Given the description of an element on the screen output the (x, y) to click on. 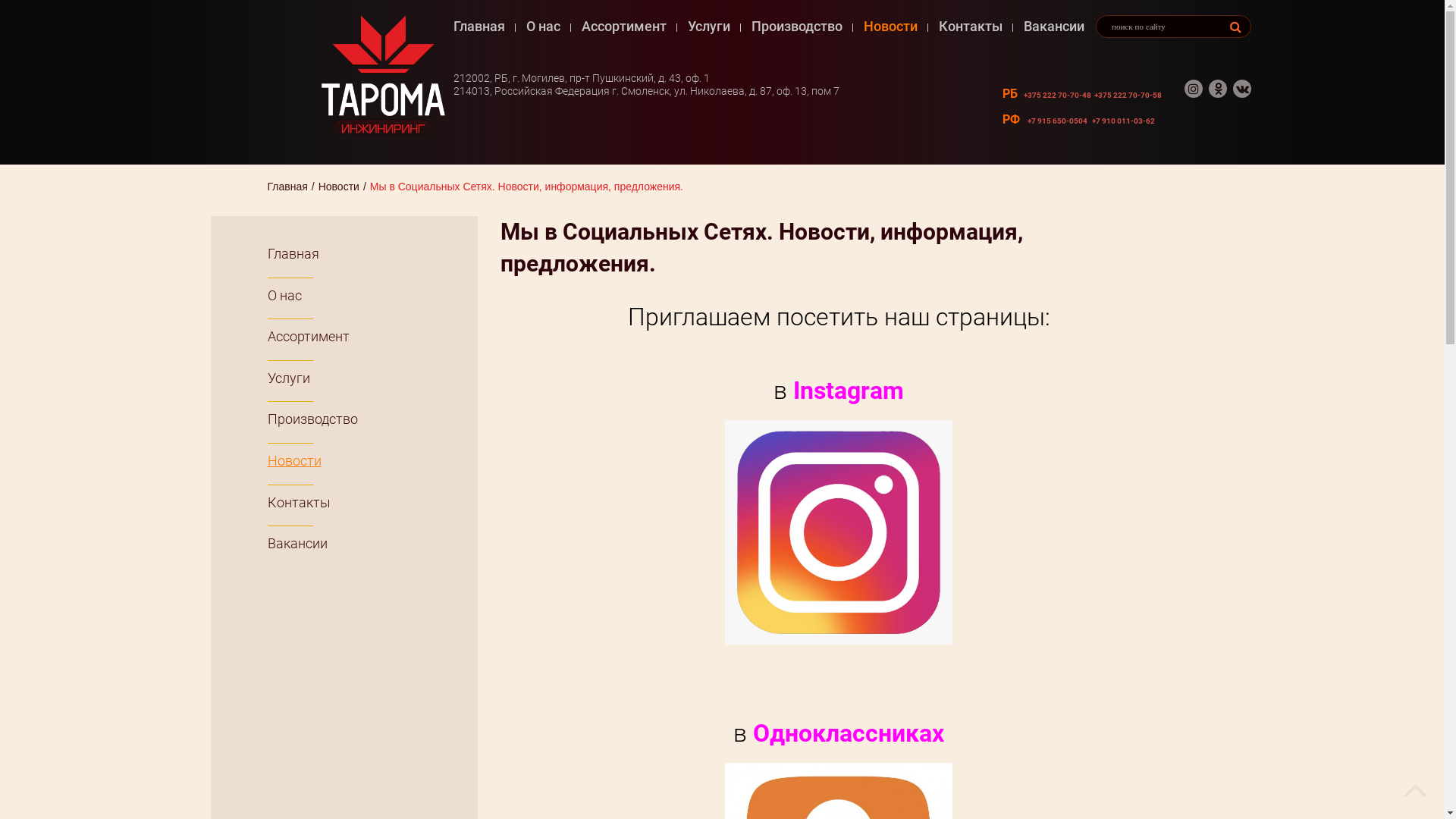
+7 910 011-03-62 Element type: text (1123, 120)
+375 222 70-70-48 Element type: text (1057, 95)
+375 222 70-70-58 Element type: text (1127, 95)
+7 915 650-0504 Element type: text (1057, 120)
